Given the description of an element on the screen output the (x, y) to click on. 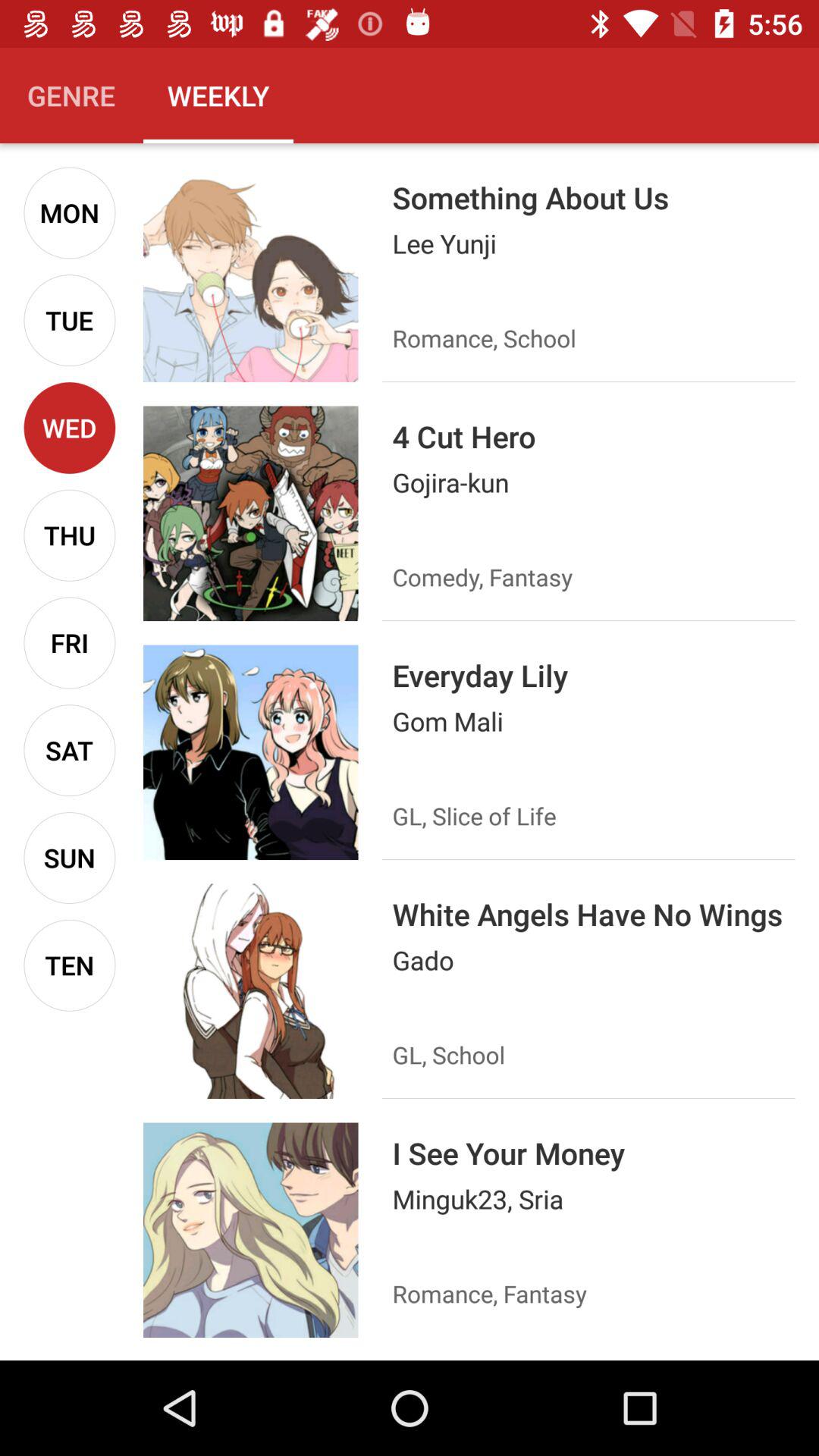
open icon below the sun item (69, 965)
